Given the description of an element on the screen output the (x, y) to click on. 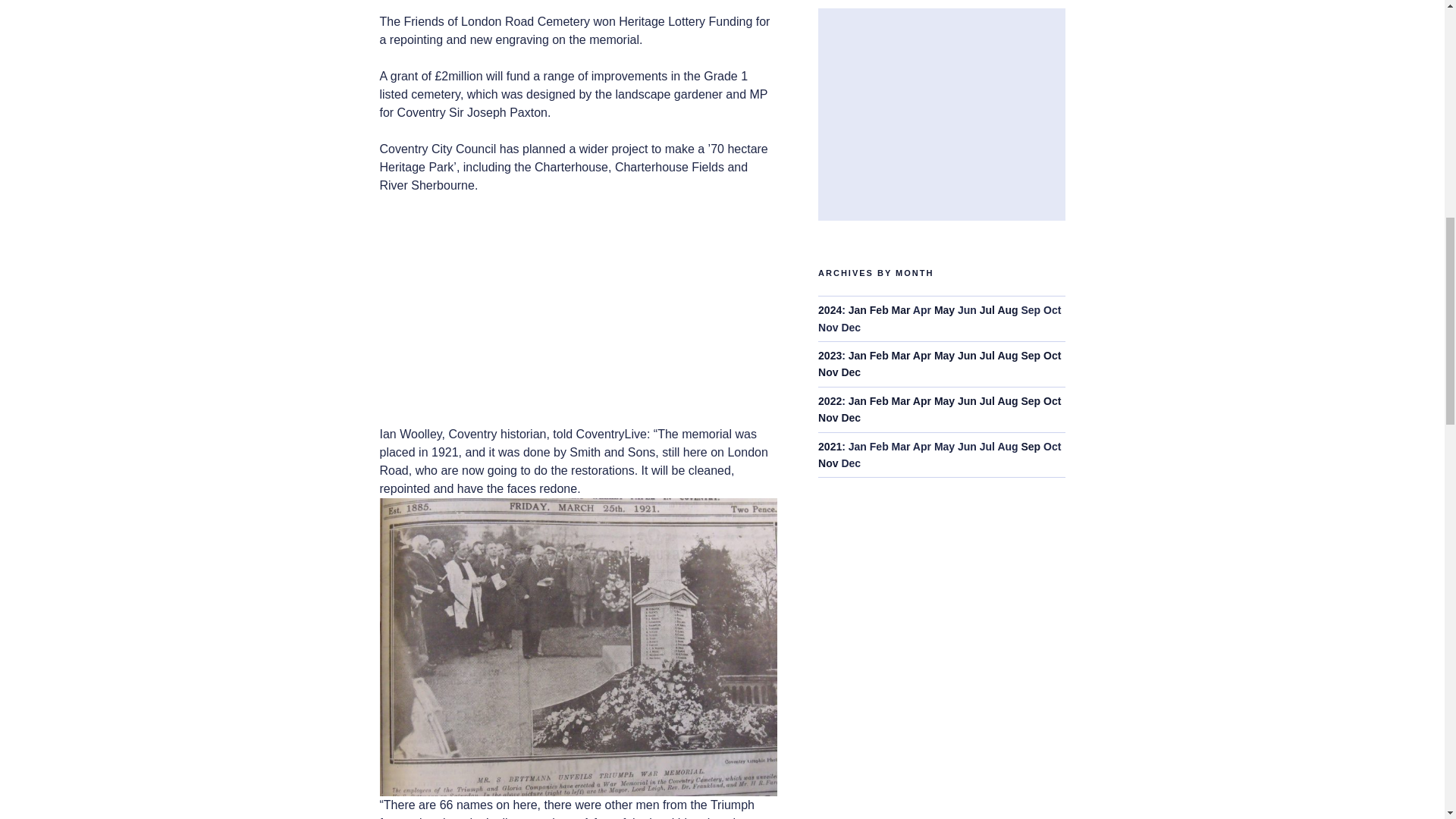
January 2001 (857, 309)
May 2001 (944, 309)
Advertisement (1039, 114)
August 2001 (1007, 309)
March 2001 (901, 309)
July 2001 (986, 309)
February 2001 (878, 355)
February 2001 (878, 309)
January 2001 (857, 355)
